Given the description of an element on the screen output the (x, y) to click on. 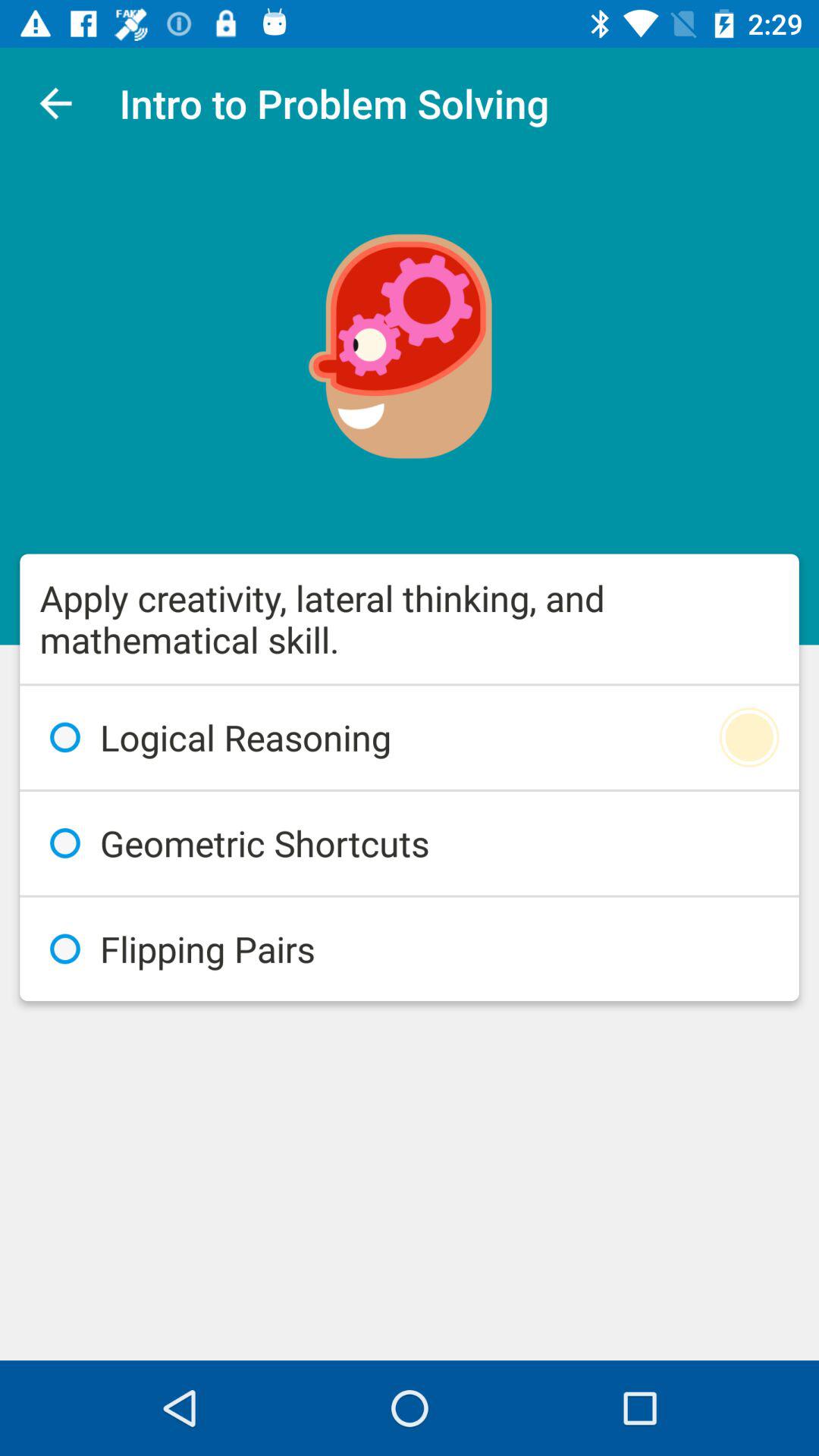
choose the icon next to the intro to problem app (55, 103)
